Given the description of an element on the screen output the (x, y) to click on. 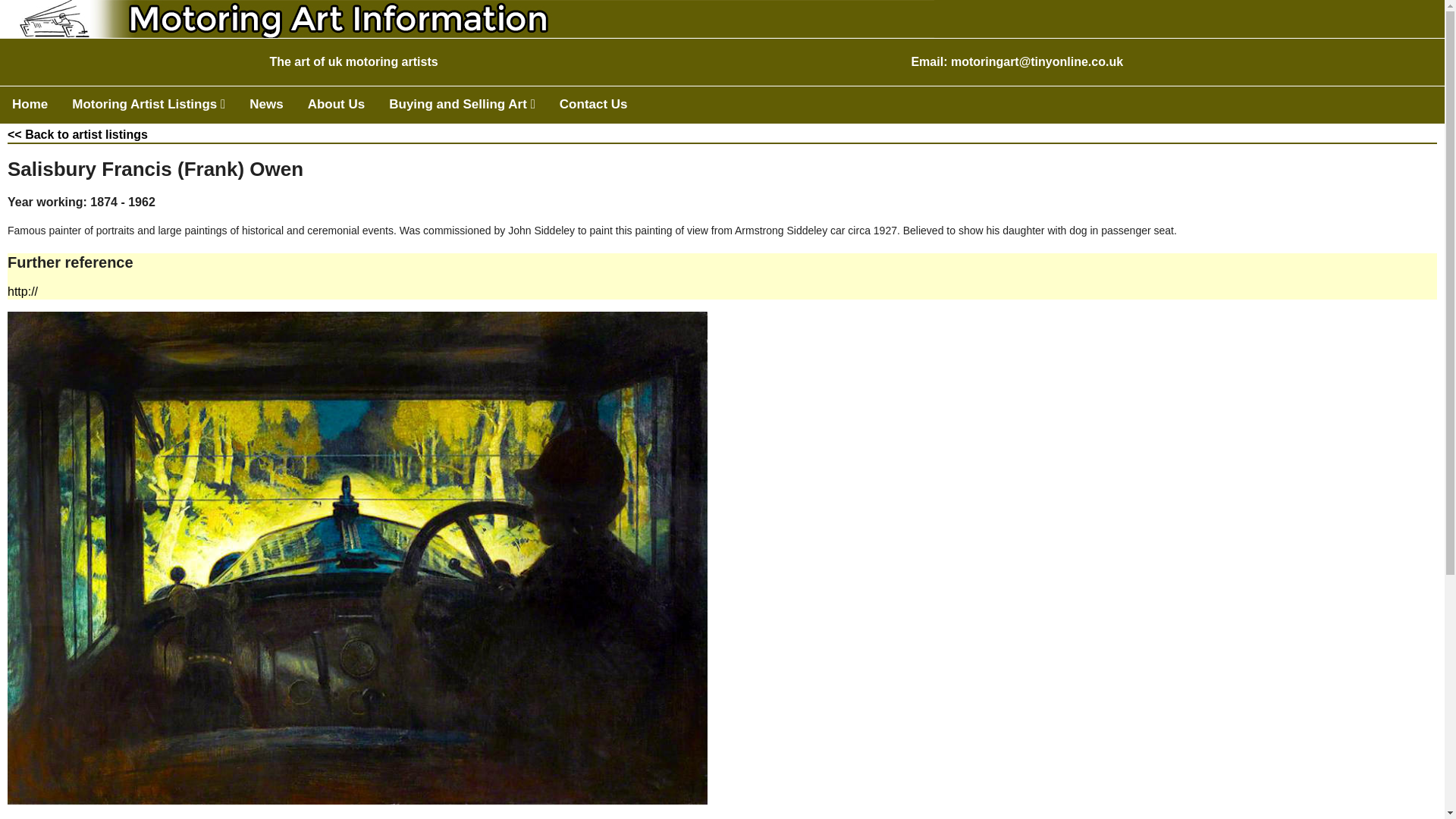
Welcome to Motoring Art (29, 104)
Buying and Selling Art (462, 104)
Motoring Artist Listings (148, 104)
Contact Us (593, 104)
Email Motoring Art (1036, 61)
News (266, 104)
Home (29, 104)
About Us (336, 104)
